Given the description of an element on the screen output the (x, y) to click on. 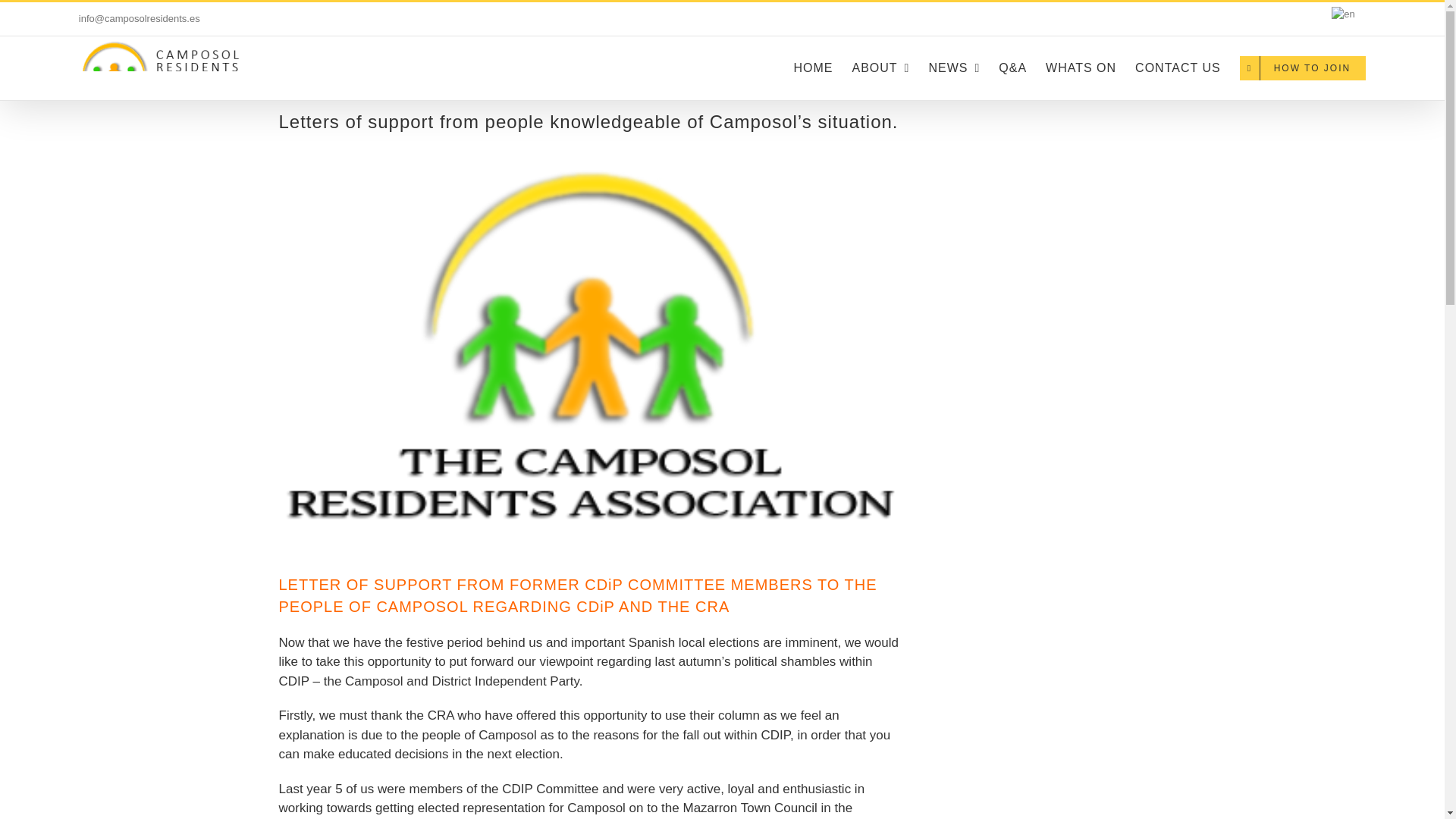
CONTACT US (1178, 67)
WHATS ON (1080, 67)
HOW TO JOIN (1303, 67)
ABOUT (879, 67)
